Given the description of an element on the screen output the (x, y) to click on. 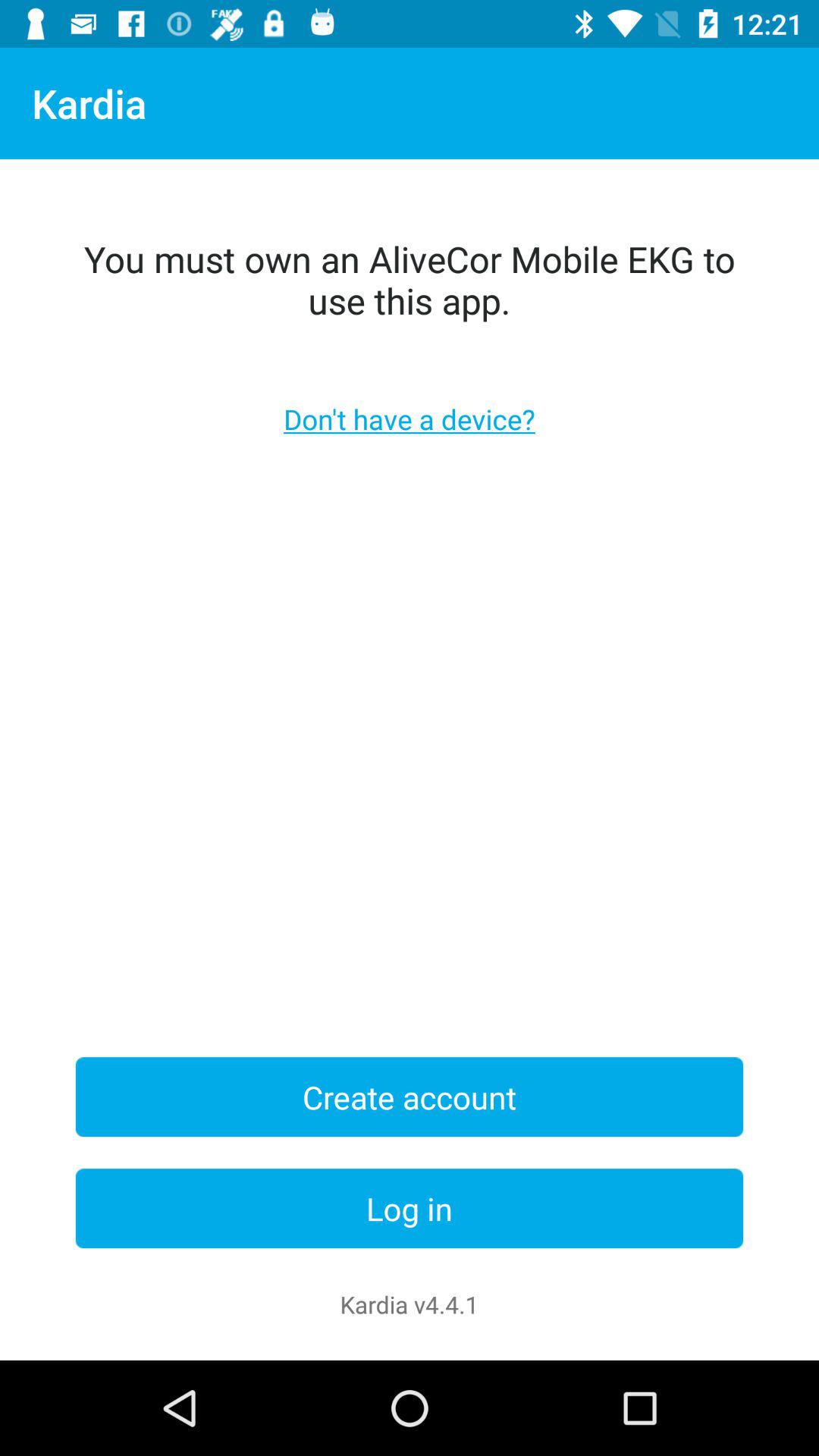
jump until the log in item (409, 1208)
